Given the description of an element on the screen output the (x, y) to click on. 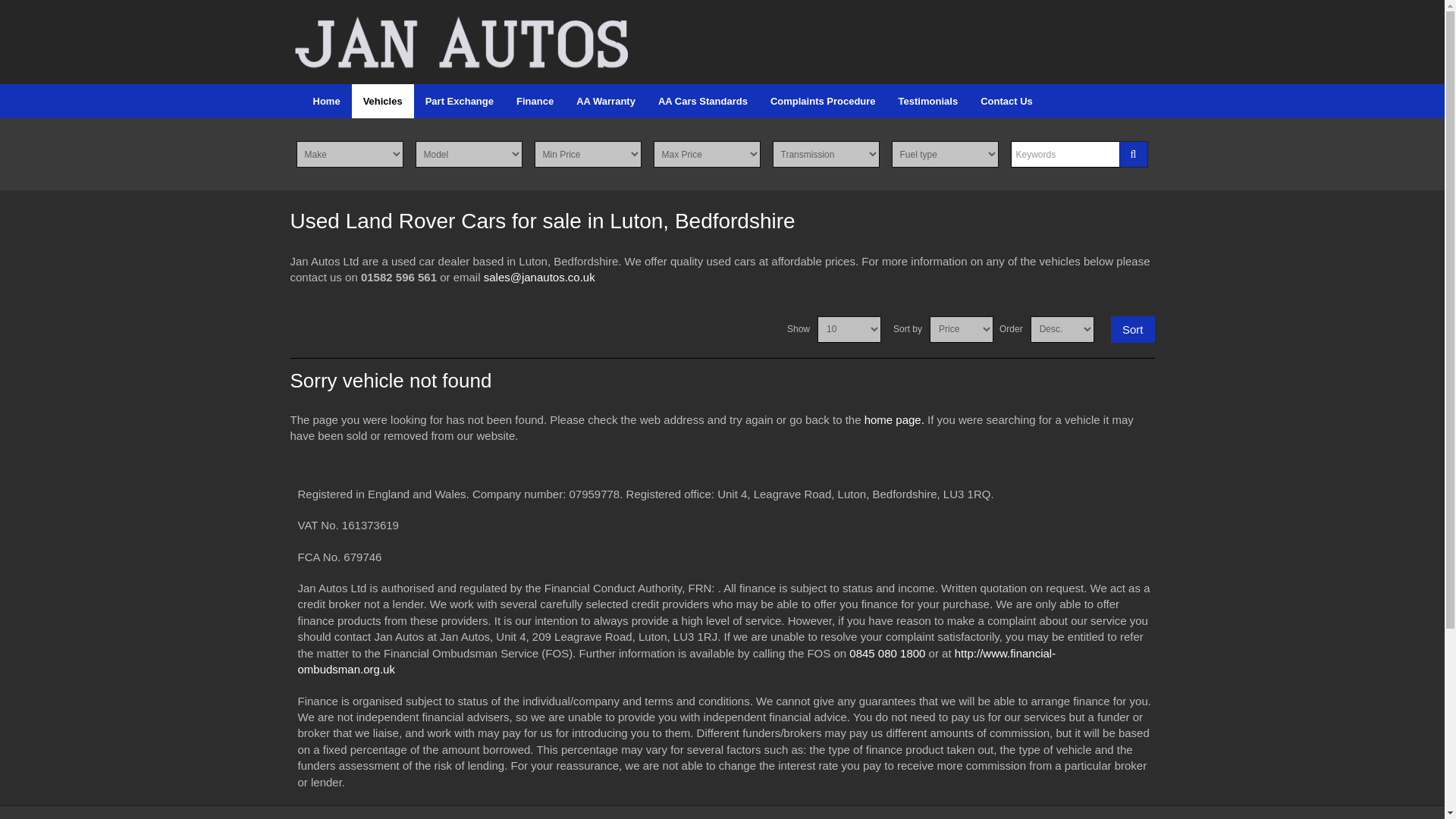
AA Cars Standards (702, 100)
Complaints Procedure (822, 100)
Contact Us (1006, 100)
Part Exchange (459, 100)
AA Cars Standards (702, 100)
Sort (1132, 329)
Part Exchange (459, 100)
Testimonials (927, 100)
Home (326, 100)
Finance (534, 100)
Vehicles (382, 100)
Testimonials (927, 100)
AA Warranty (605, 100)
Complaints Procedure (822, 100)
Finance (534, 100)
